Given the description of an element on the screen output the (x, y) to click on. 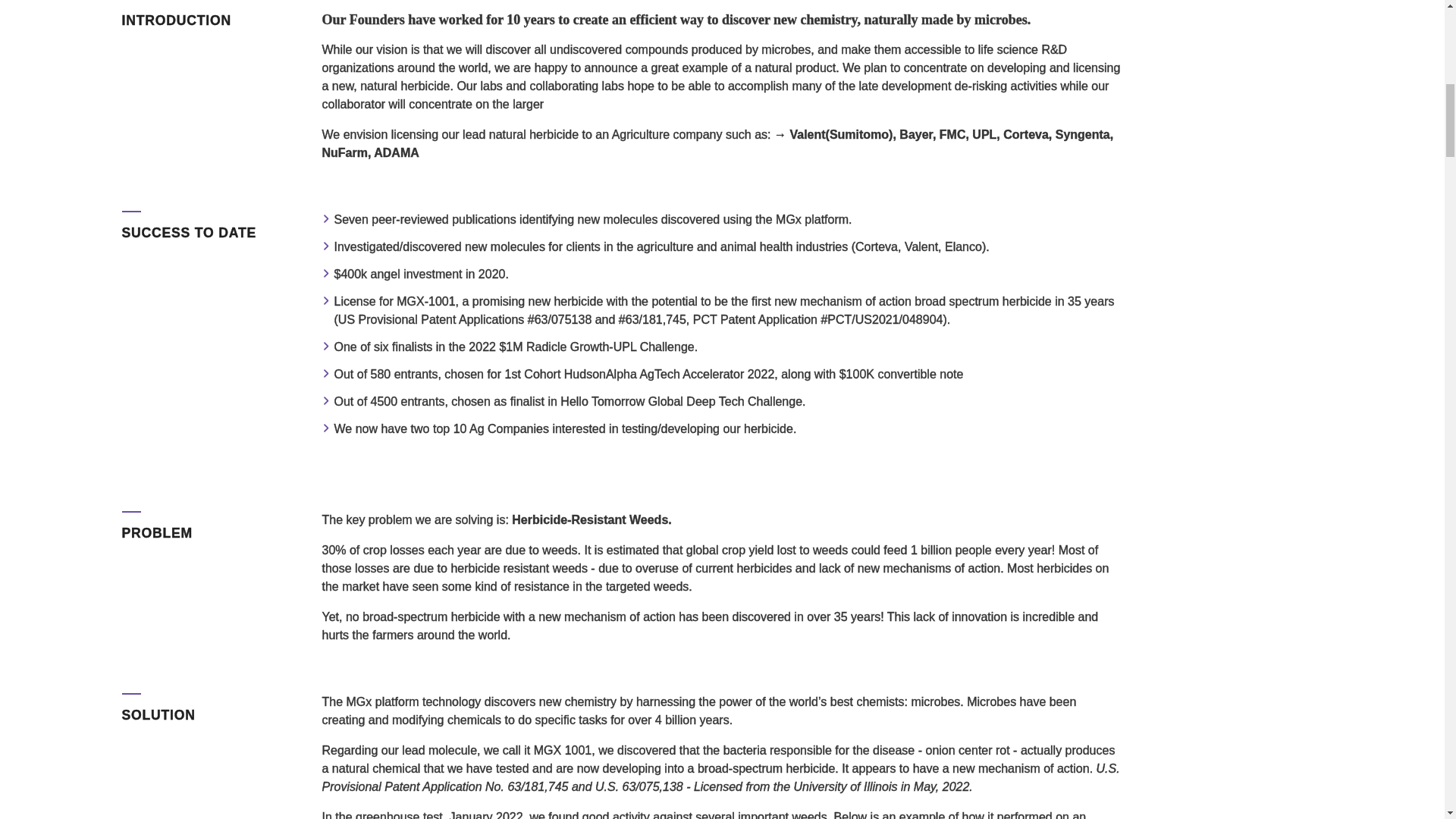
Radicle Growth-UPL Challenge (609, 346)
1st Cohort HudsonAlpha AgTech Accelerator 2022 (639, 373)
Hello Tomorrow Global Deep Tech Challenge (681, 400)
1 billion people (951, 549)
